Given the description of an element on the screen output the (x, y) to click on. 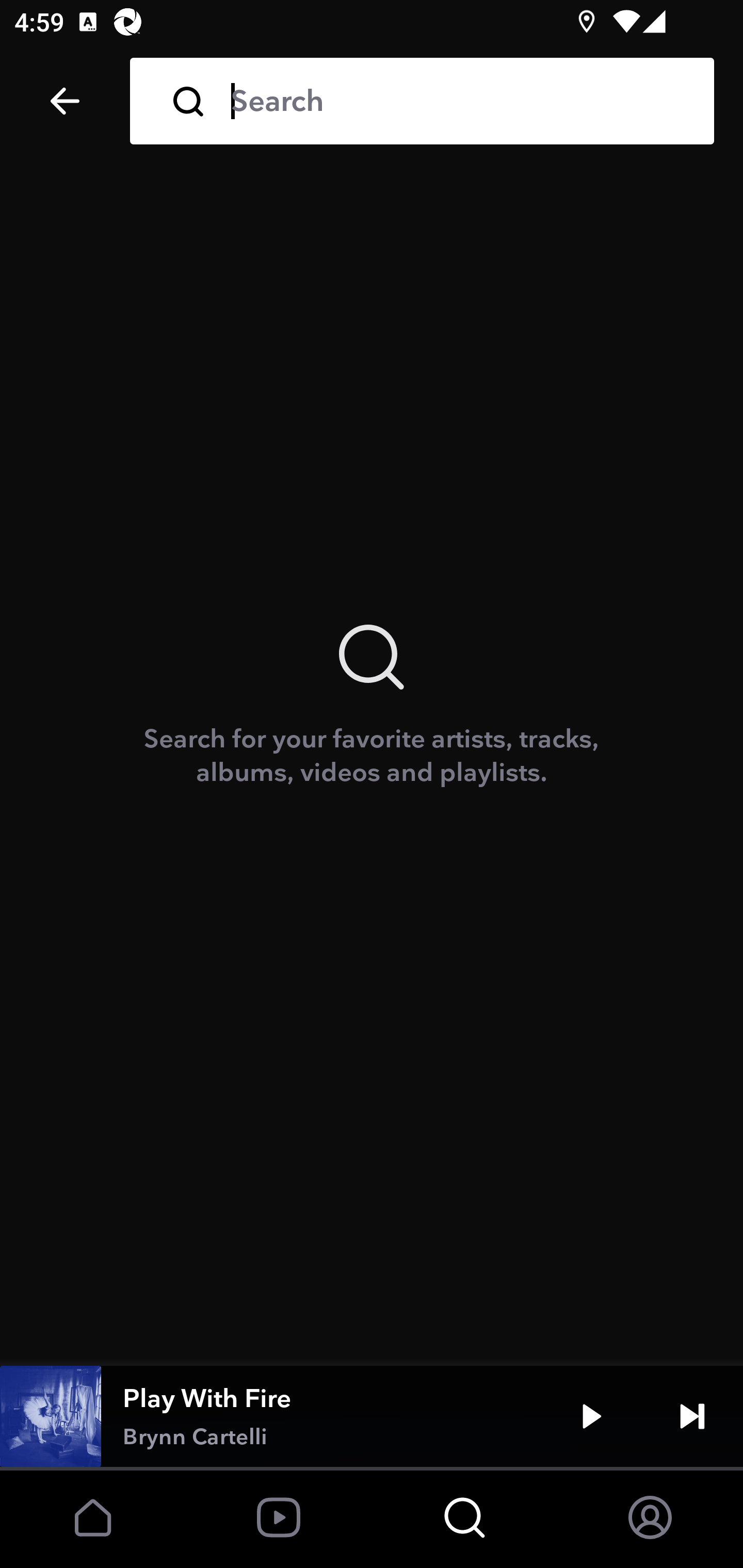
Search (457, 100)
Play With Fire Brynn Cartelli Play (371, 1416)
Play (590, 1416)
